Given the description of an element on the screen output the (x, y) to click on. 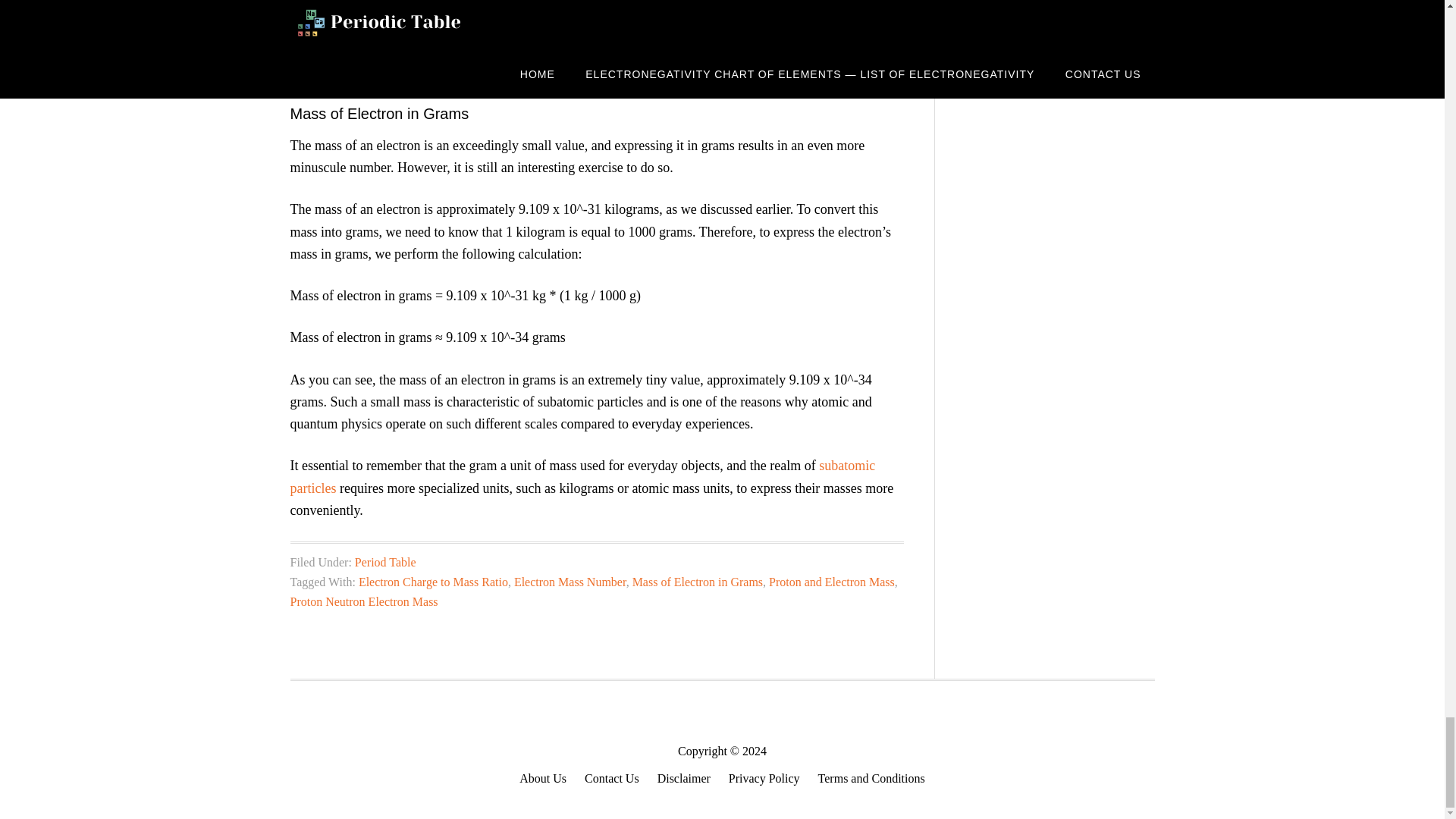
Proton Neutron Electron Mass (363, 601)
Terms and Conditions (871, 778)
Contact Us (612, 778)
Period Table (385, 562)
Mass of Electron in Grams (696, 581)
Privacy Policy (764, 778)
Electron Charge to Mass Ratio (433, 581)
About Us (542, 778)
subatomic particles (582, 476)
Disclaimer (684, 778)
Proton and Electron Mass (831, 581)
Electron Mass Number (569, 581)
